Given the description of an element on the screen output the (x, y) to click on. 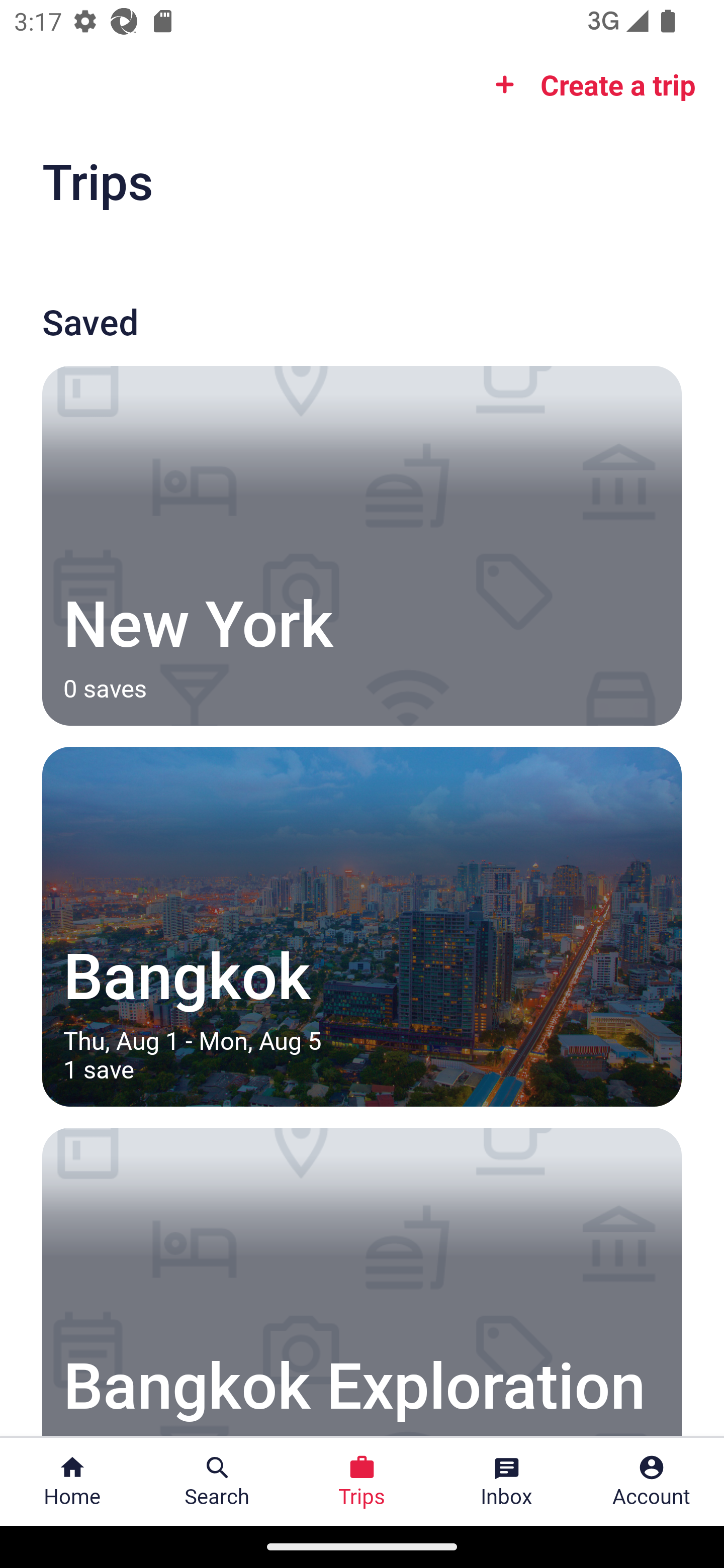
Create a trip Create a trip Button (589, 84)
New York. 0 saves.  Button New York 0 saves (361, 545)
Home Home Button (72, 1481)
Search Search Button (216, 1481)
Inbox Inbox Button (506, 1481)
Account Profile. Button (651, 1481)
